Given the description of an element on the screen output the (x, y) to click on. 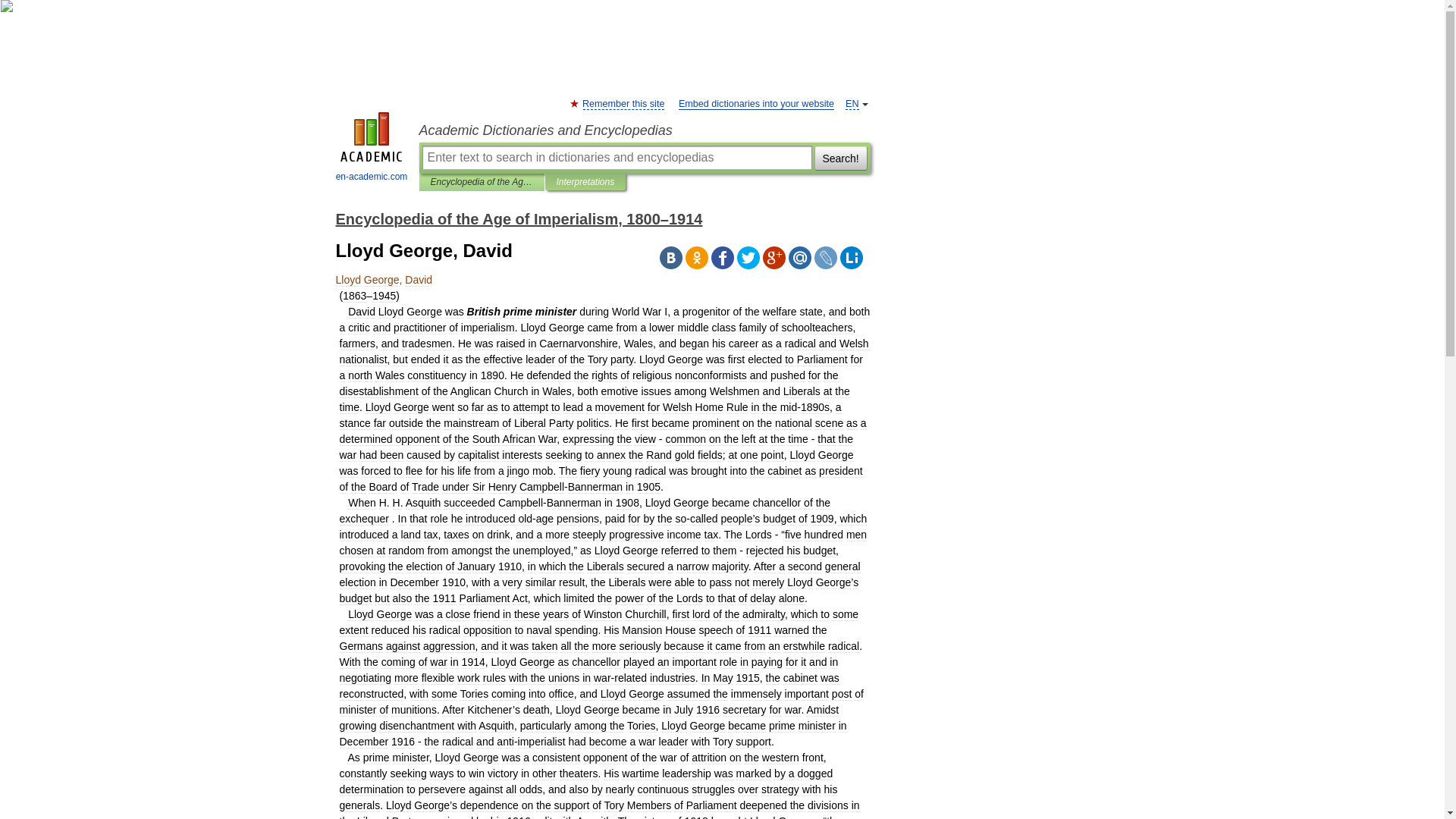
EN (852, 103)
Interpretations (585, 181)
Embed dictionaries into your website (756, 103)
Academic Dictionaries and Encyclopedias (644, 130)
Remember this site (623, 103)
en-academic.com (371, 148)
Search! (840, 157)
Enter text to search in dictionaries and encyclopedias (616, 157)
